Given the description of an element on the screen output the (x, y) to click on. 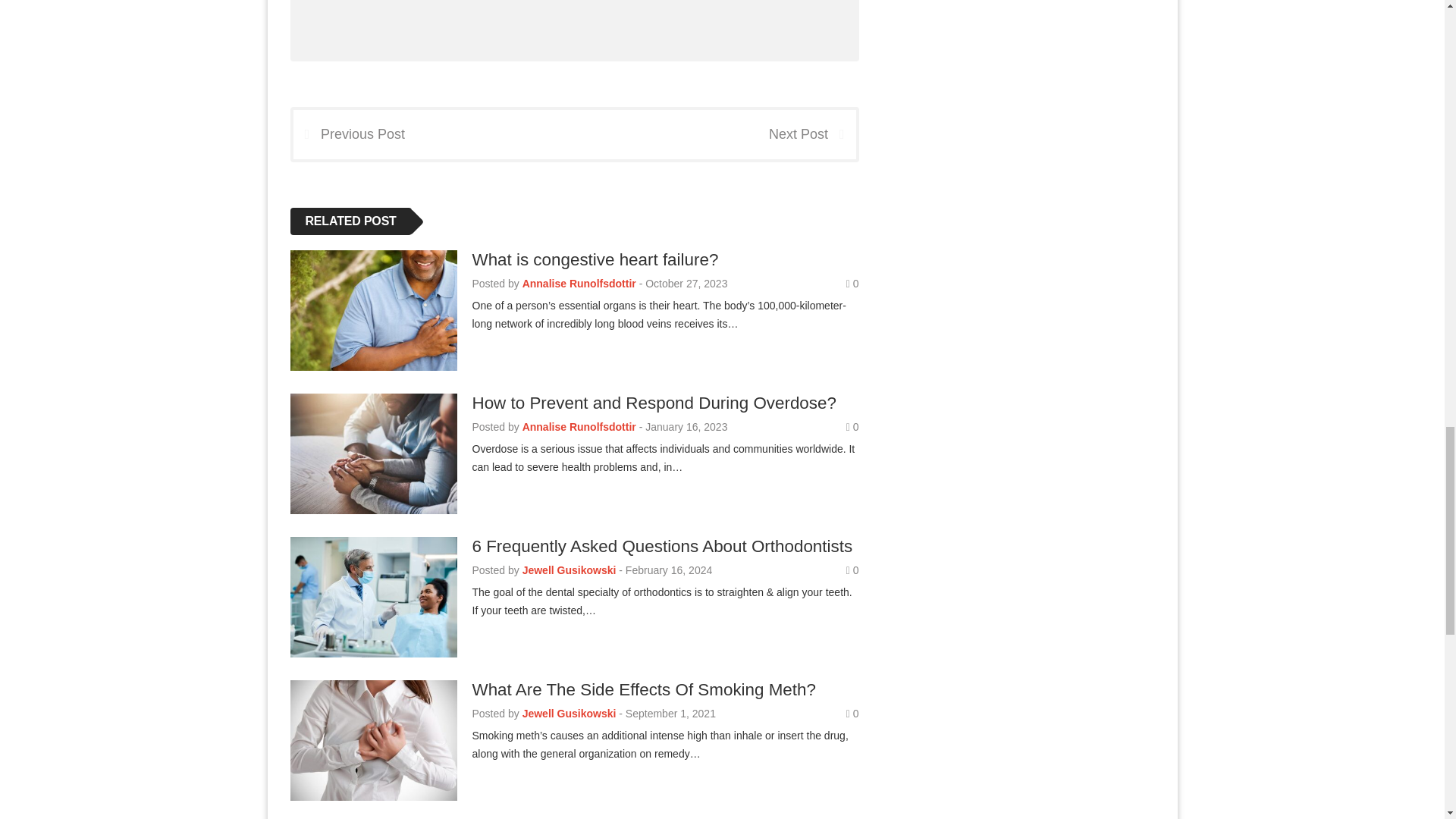
Posts by Annalise Runolfsdottir (579, 283)
What is congestive heart failure? (594, 259)
Previous Post (348, 133)
Next Post (812, 133)
Posts by Annalise Runolfsdottir (579, 426)
Annalise Runolfsdottir (579, 283)
0 (852, 283)
How to Prevent and Respond During Overdose? (653, 402)
